Given the description of an element on the screen output the (x, y) to click on. 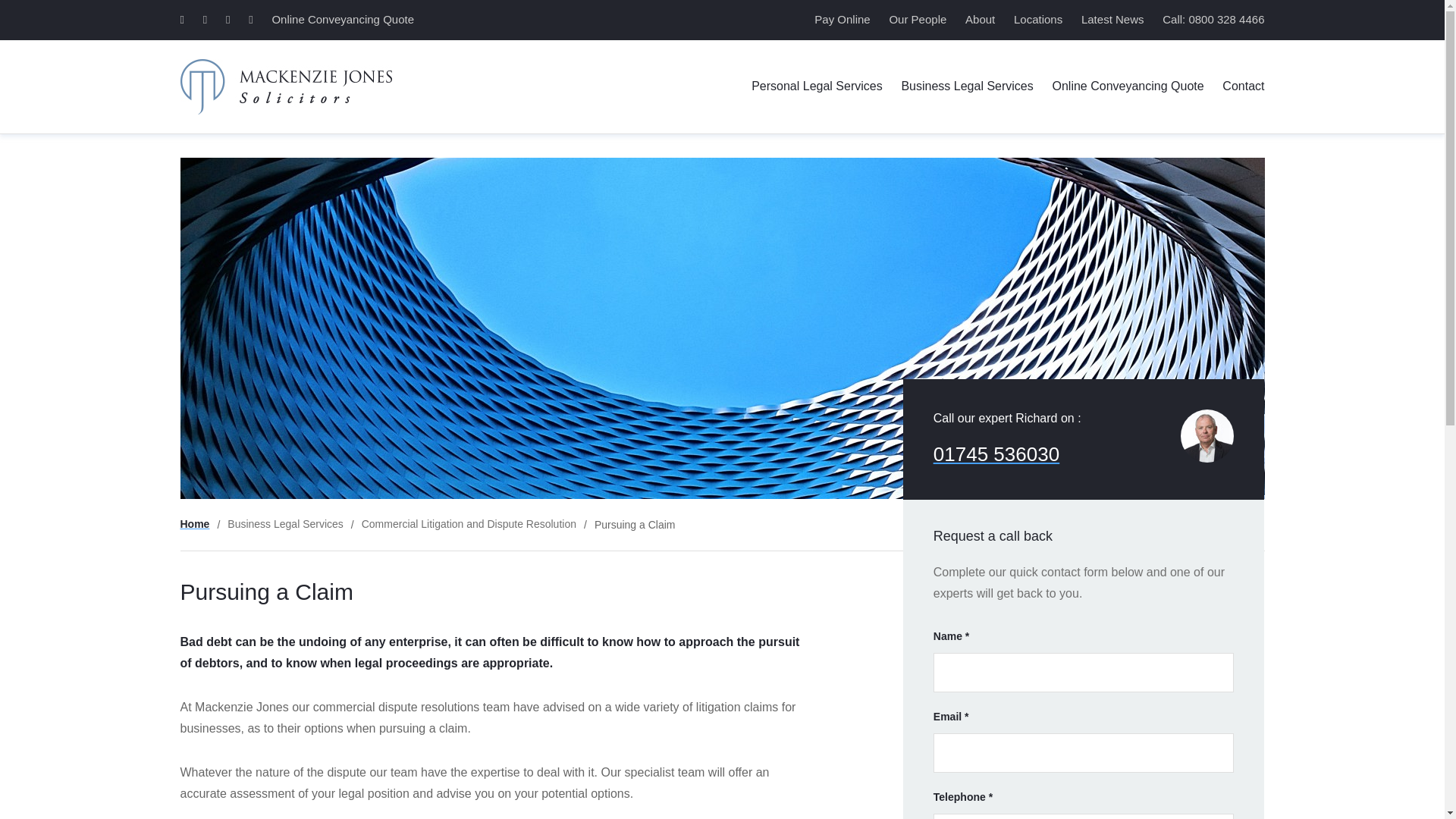
Call: 0800 328 4466 (1212, 19)
Contact (1243, 86)
Online Conveyancing Quote (341, 19)
Latest News (1112, 19)
Online Conveyancing Quote (1128, 86)
Locations (1037, 19)
About (979, 19)
Our People (917, 19)
Personal Legal Services (816, 86)
Business Legal Services (966, 86)
Pay Online (841, 19)
